Given the description of an element on the screen output the (x, y) to click on. 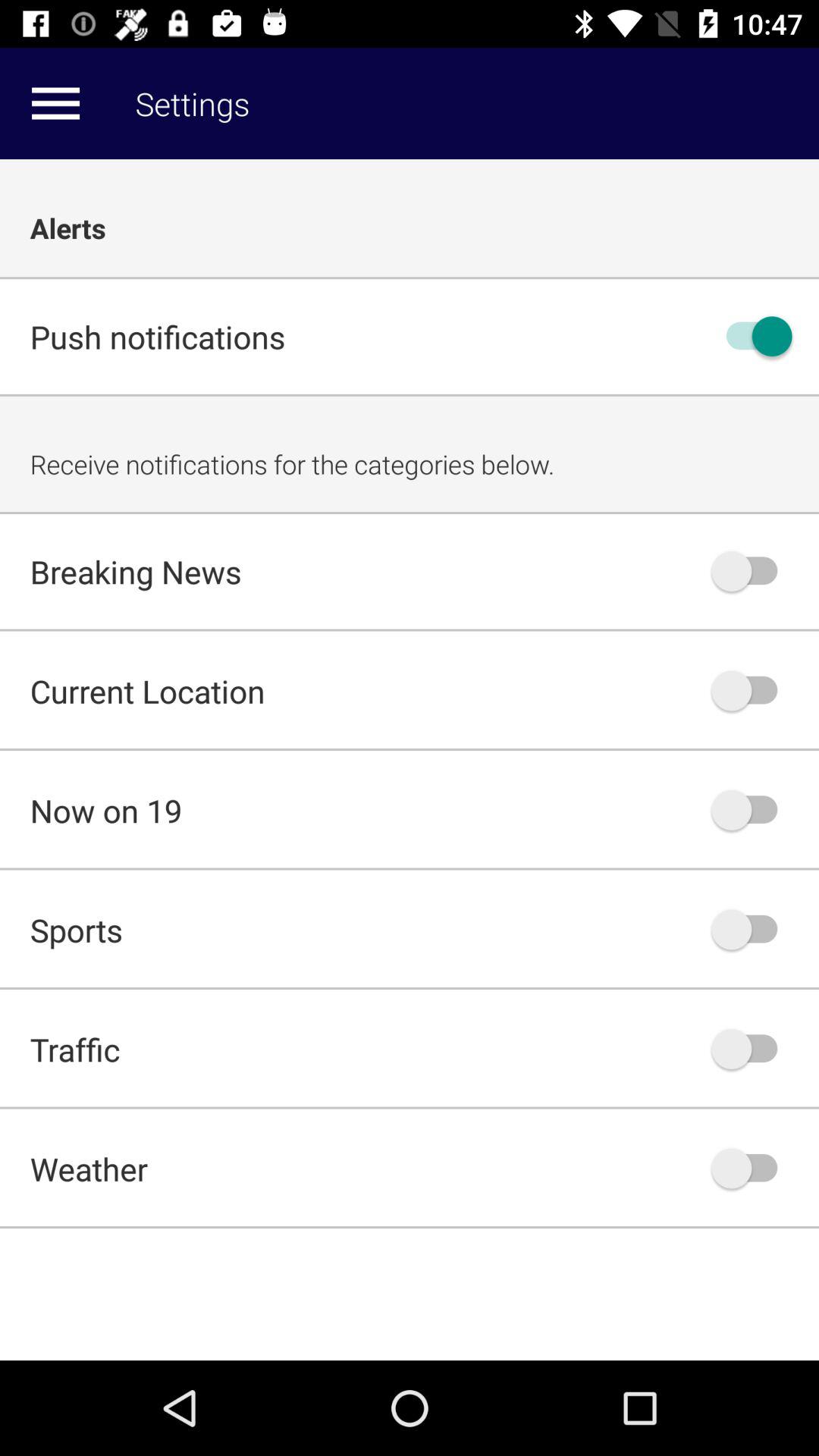
toggle sports (751, 929)
